Given the description of an element on the screen output the (x, y) to click on. 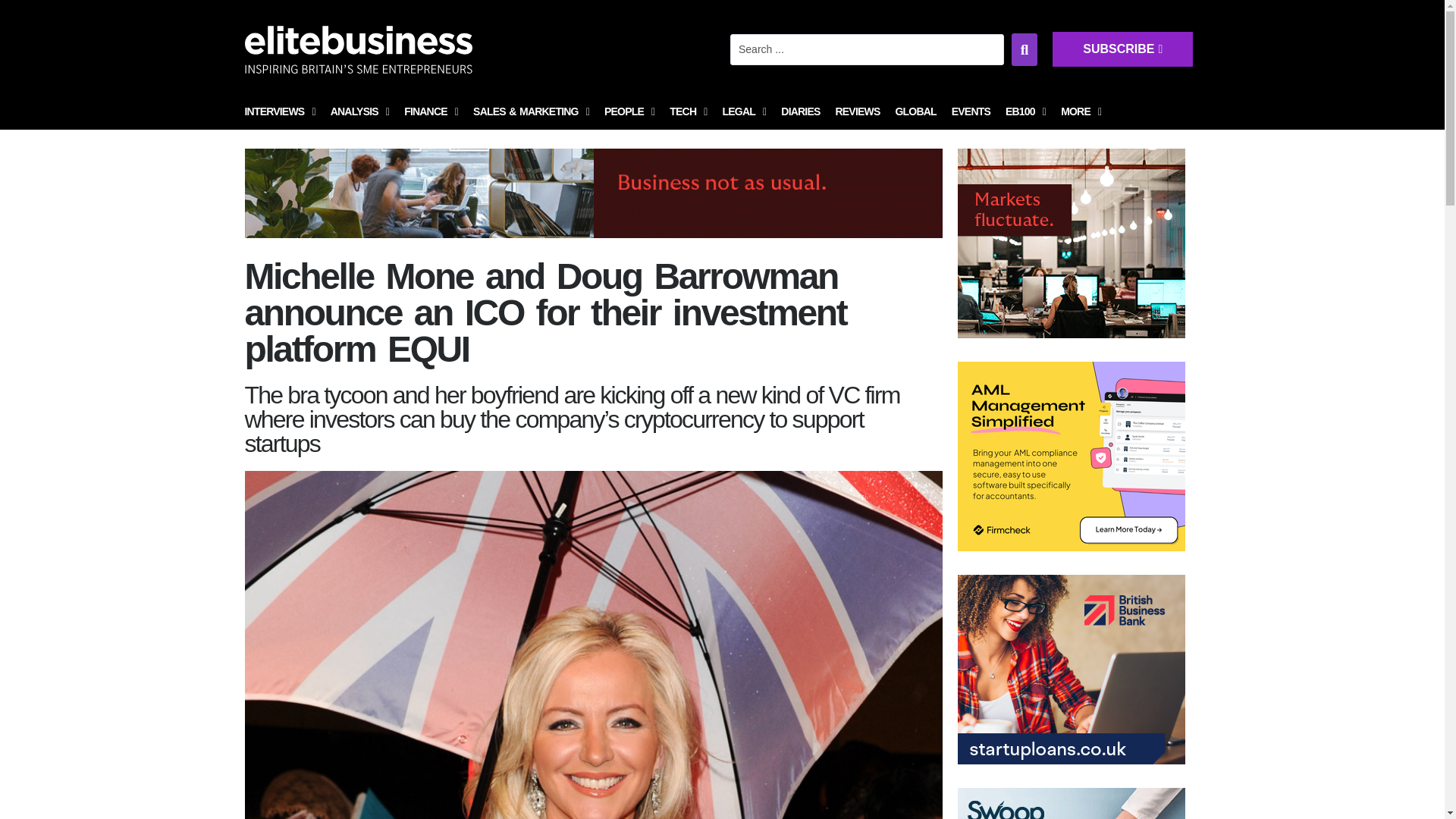
SUBSCRIBE (1283, 63)
TECH (688, 112)
FINANCE (430, 112)
ANALYSIS (359, 112)
PEOPLE (629, 112)
INTERVIEWS (278, 112)
